Given the description of an element on the screen output the (x, y) to click on. 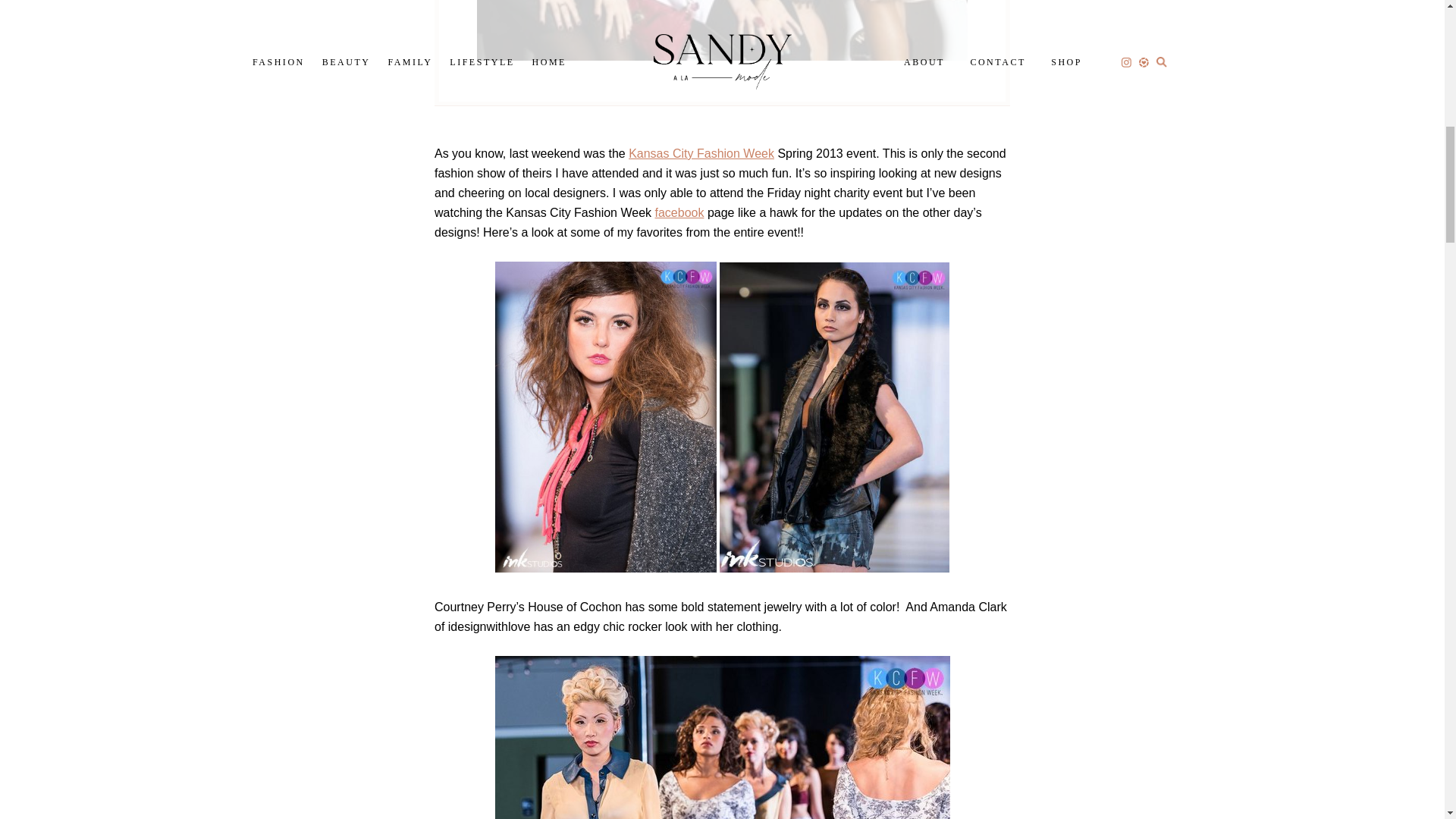
facebook (679, 212)
Kansas City Fashion Week (701, 153)
